Given the description of an element on the screen output the (x, y) to click on. 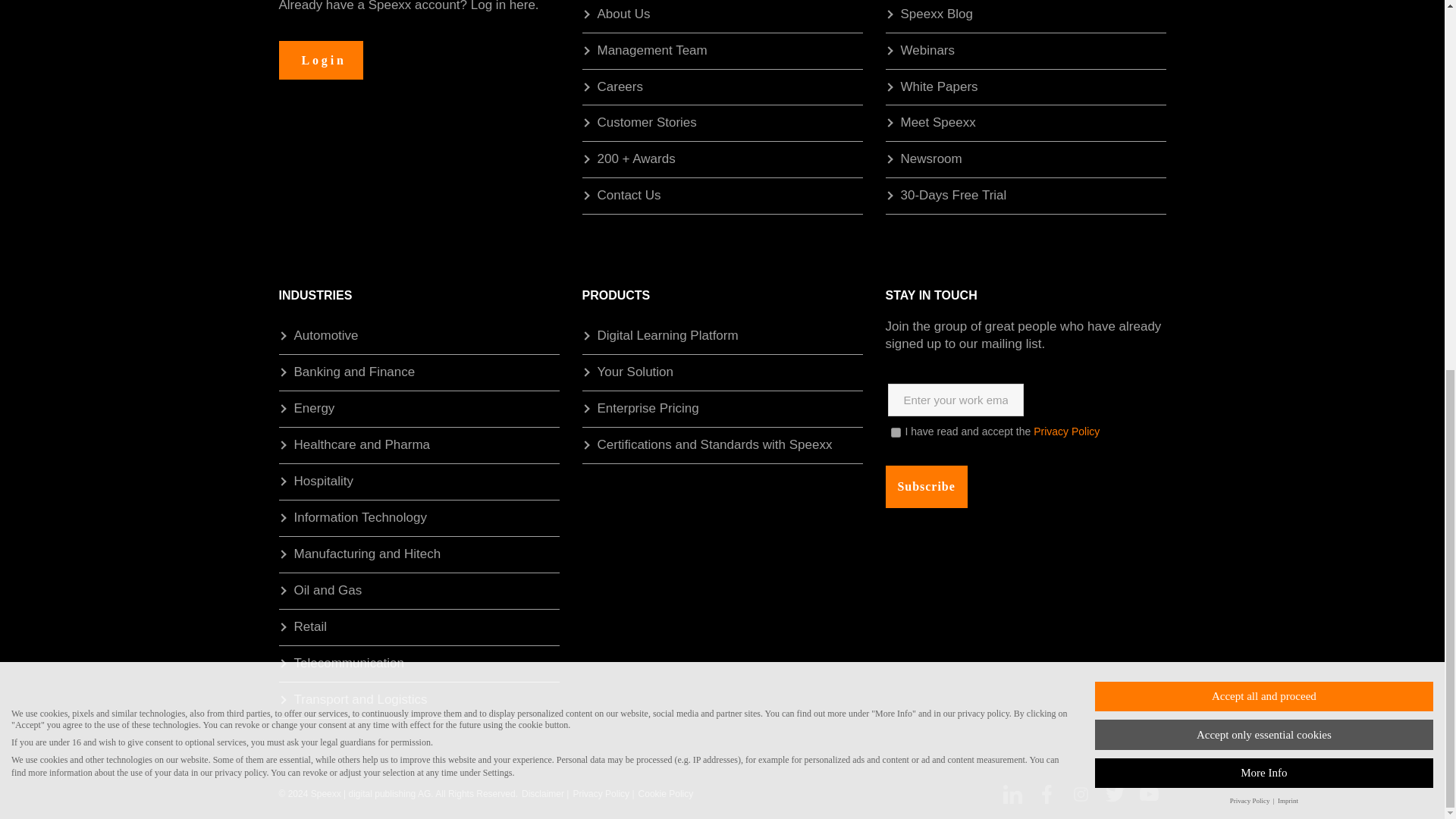
True (894, 432)
